Given the description of an element on the screen output the (x, y) to click on. 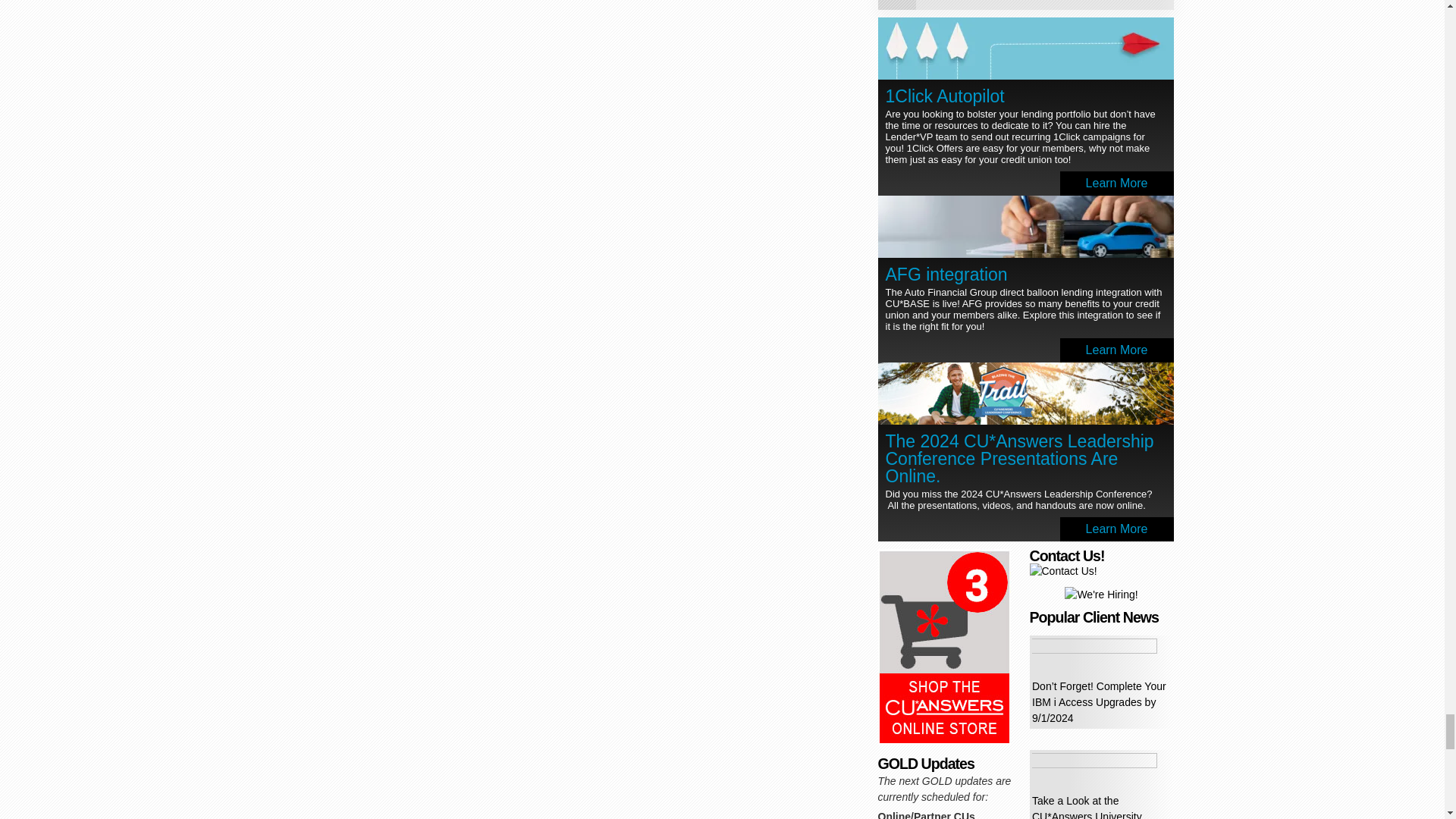
1Click Autopilot (1025, 50)
1Click Autopilot (1025, 61)
1Click Autopilot (944, 96)
AFG integration (946, 274)
AFG integration (1025, 239)
AFG integration (1025, 228)
